Given the description of an element on the screen output the (x, y) to click on. 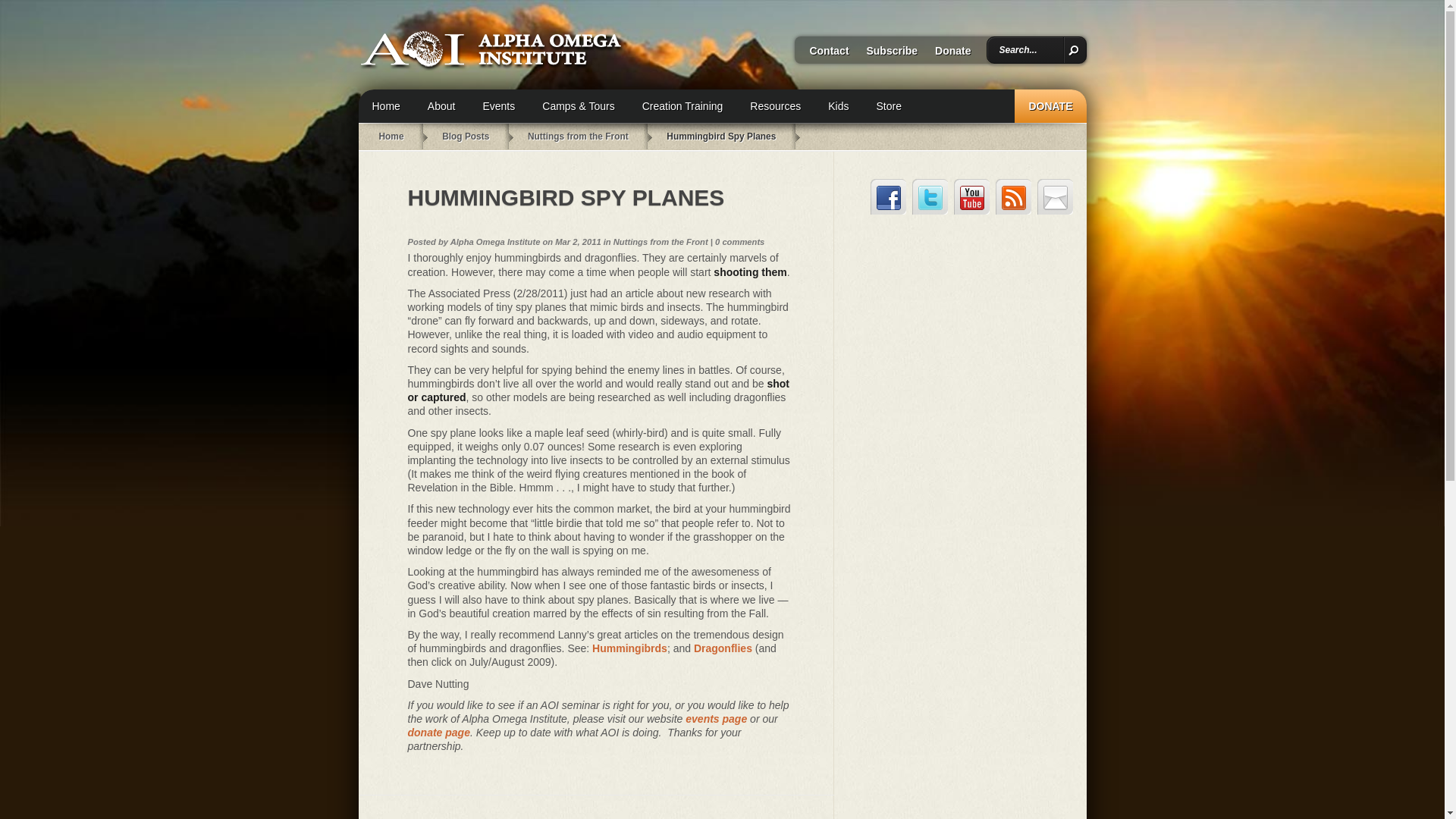
Contact (821, 54)
Contact Us (1054, 196)
Home (385, 105)
Search... (1029, 49)
Subscribe to our Newsletters (884, 54)
Go to the Nuttings from the Front category archives. (577, 136)
Go to the Blog Posts category archives. (465, 136)
Posts by Alpha Omega Institute (494, 241)
RSS (1012, 196)
Creation Training (682, 105)
